Given the description of an element on the screen output the (x, y) to click on. 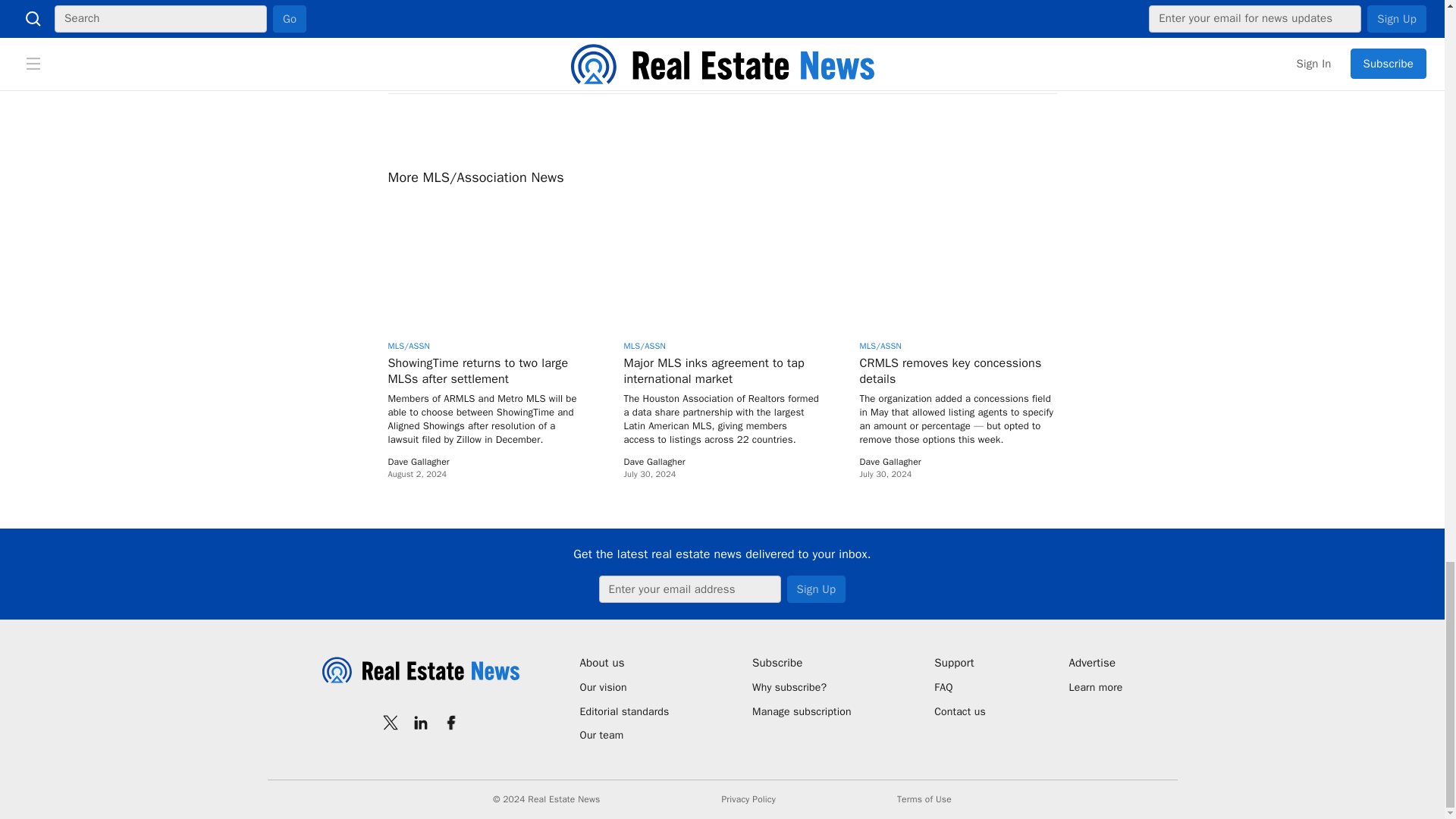
Dave Gallagher (653, 461)
Why subscribe? (801, 687)
Editorial standards (623, 711)
Sign Up (816, 588)
Dave Gallagher (418, 461)
Our team (623, 735)
Dave Gallagher (890, 461)
Our vision (623, 687)
